Given the description of an element on the screen output the (x, y) to click on. 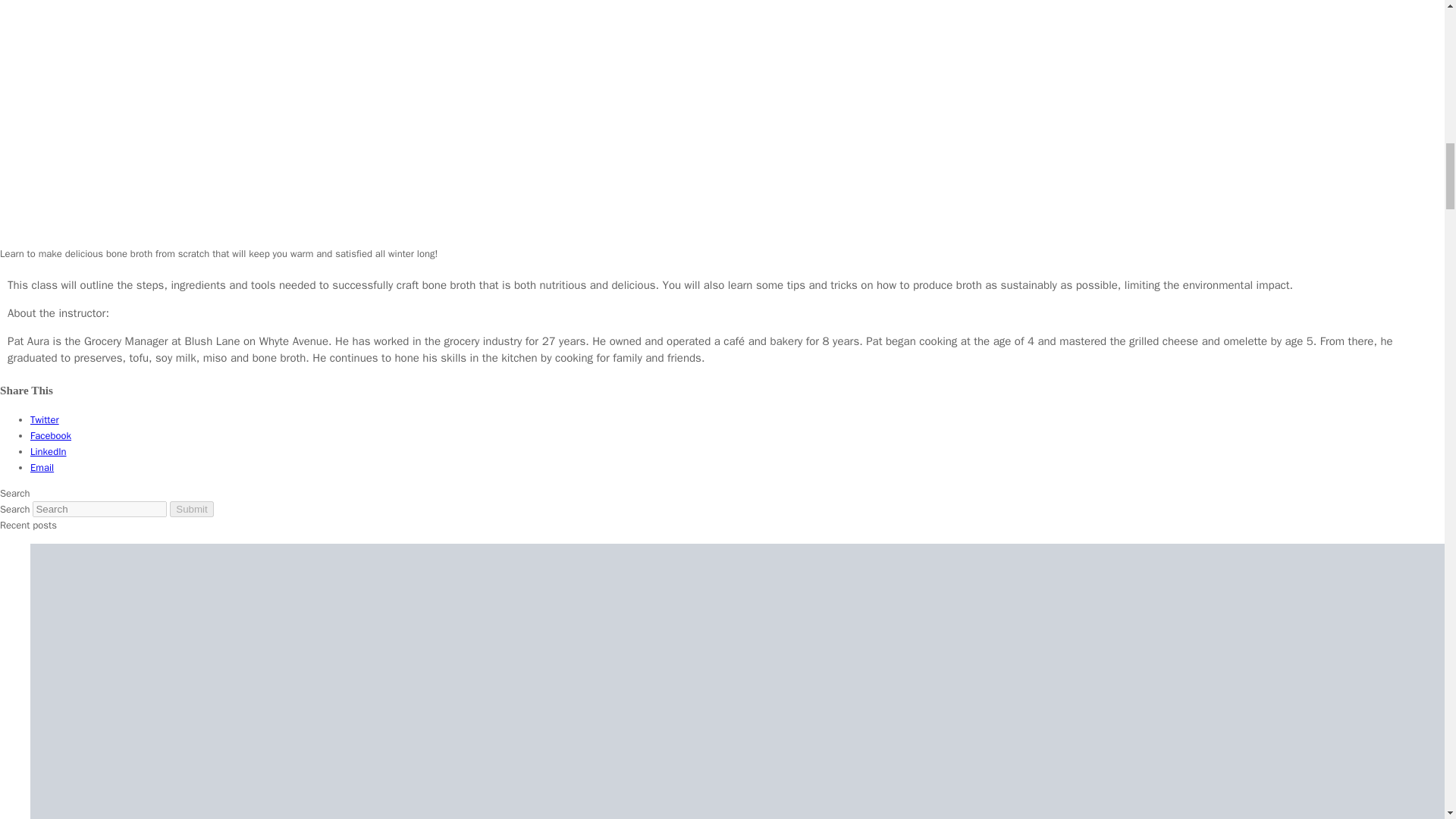
Submit (191, 508)
Facebook (48, 451)
Email (50, 435)
Twitter (41, 467)
